Given the description of an element on the screen output the (x, y) to click on. 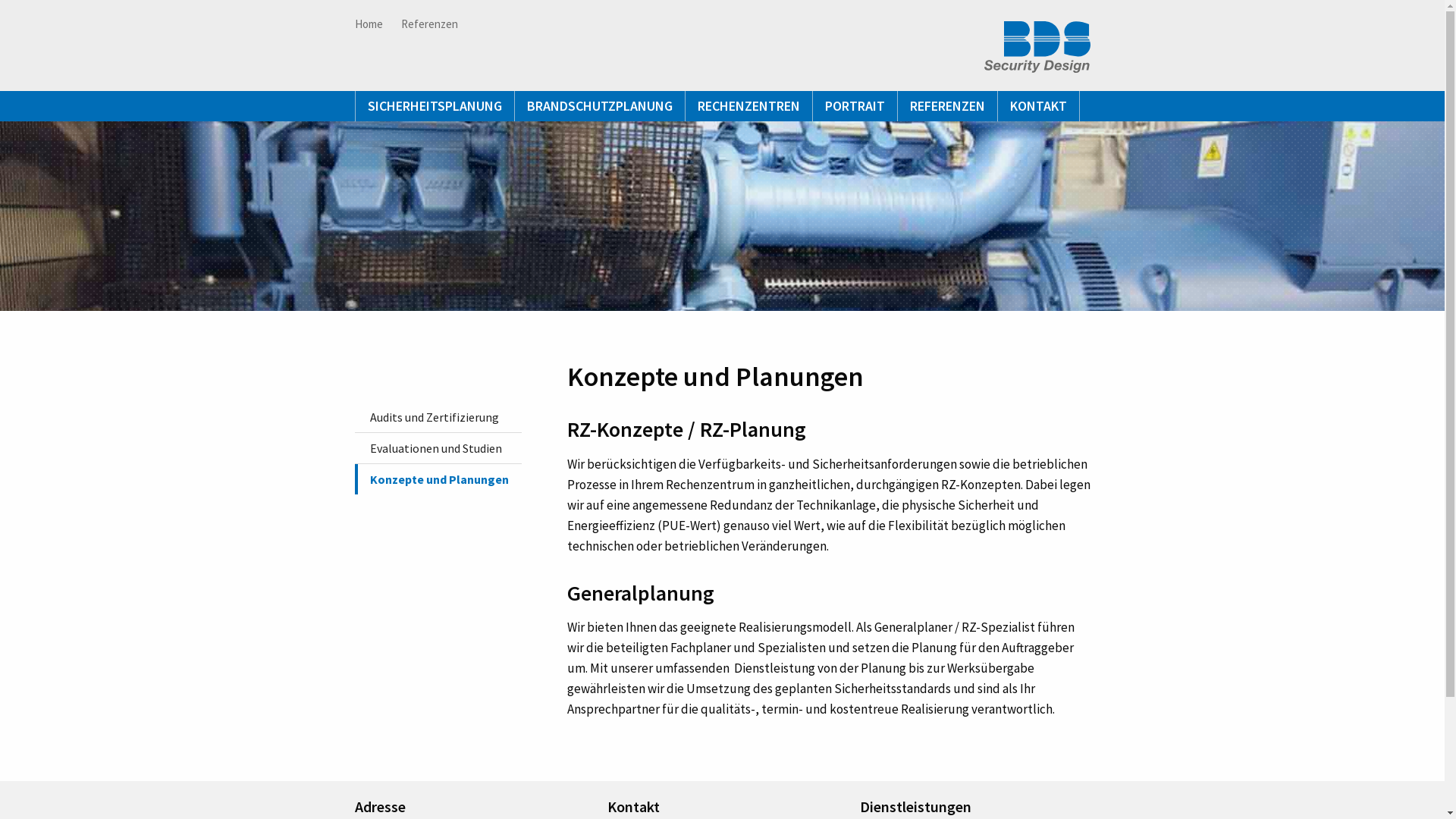
Referenzen Element type: text (428, 23)
SICHERHEITSPLANUNG Element type: text (434, 106)
Home Element type: text (373, 23)
REFERENZEN Element type: text (947, 106)
RECHENZENTREN Element type: text (748, 106)
BRANDSCHUTZPLANUNG Element type: text (599, 106)
Konzepte und Planungen Element type: text (437, 479)
KONTAKT Element type: text (1038, 106)
Evaluationen und Studien Element type: text (437, 448)
Audits und Zertifizierung Element type: text (437, 416)
PORTRAIT Element type: text (854, 106)
